Given the description of an element on the screen output the (x, y) to click on. 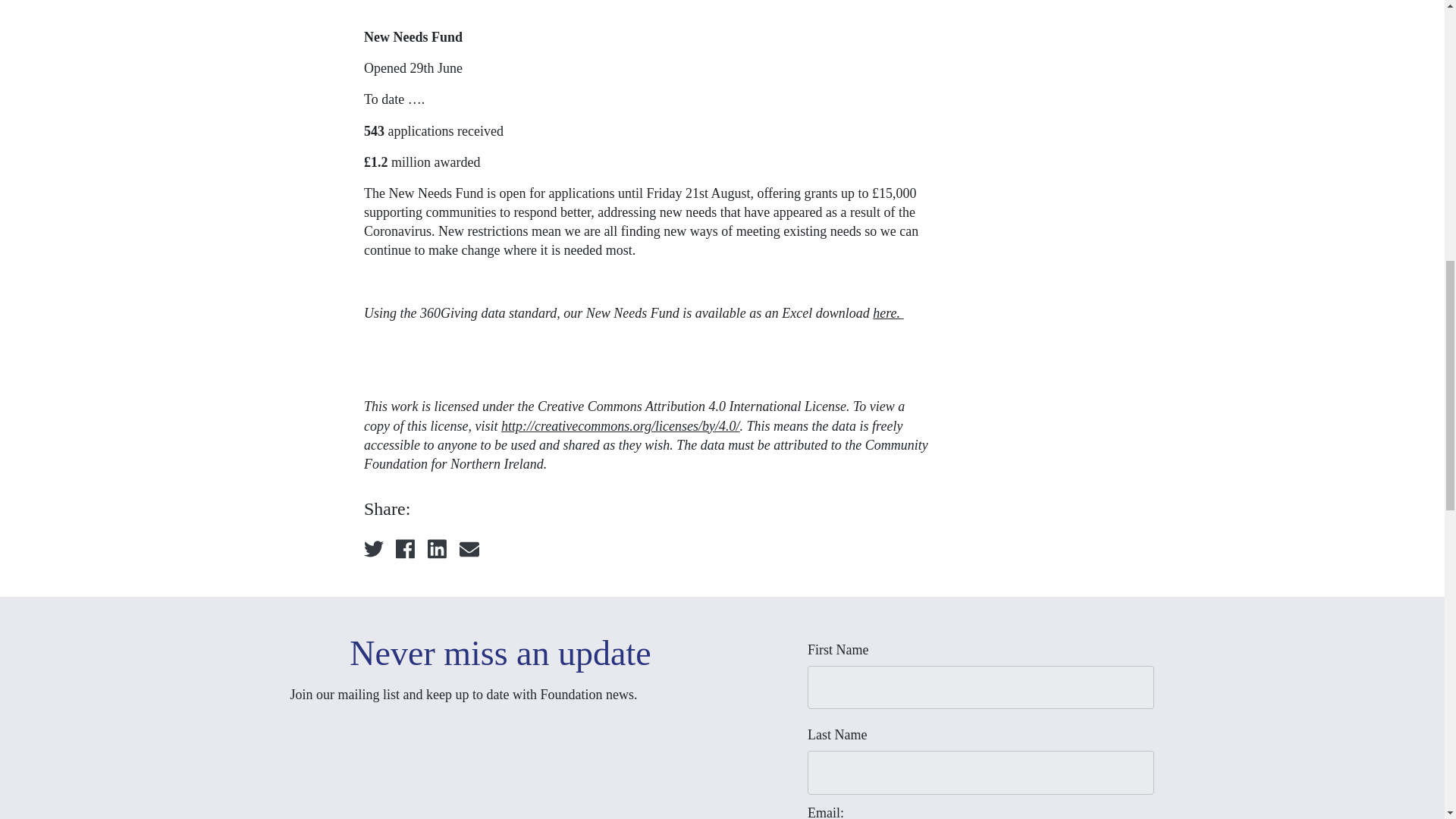
Share on Facebook. (405, 547)
Share in an email (469, 547)
Share on LinkedIn (437, 547)
